Given the description of an element on the screen output the (x, y) to click on. 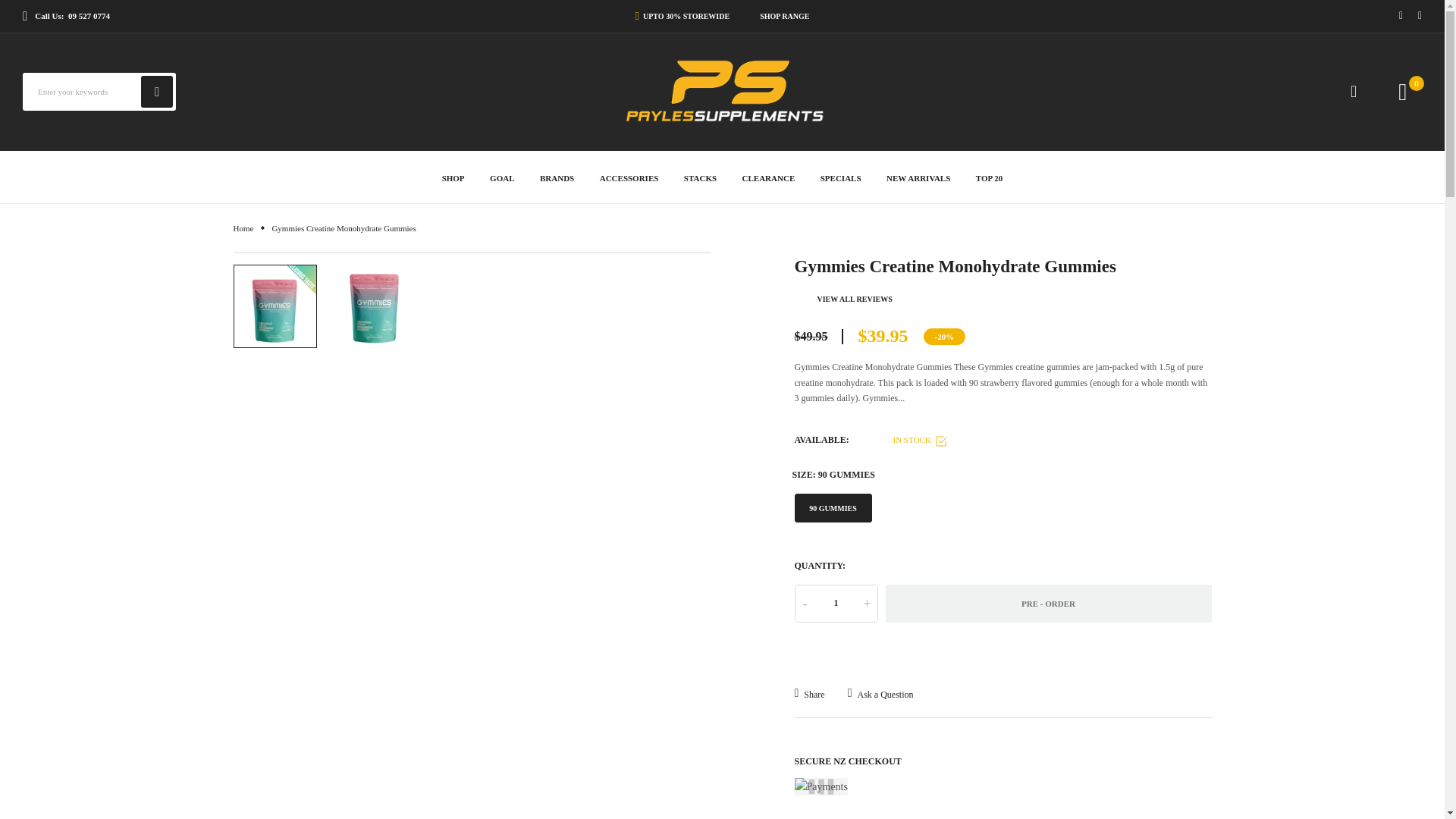
1 (835, 603)
Cart (1416, 83)
New Arrivals (918, 176)
Clearance (768, 176)
Account (1354, 91)
SHOP RANGE (784, 15)
Accessories (629, 176)
Search (157, 91)
